Given the description of an element on the screen output the (x, y) to click on. 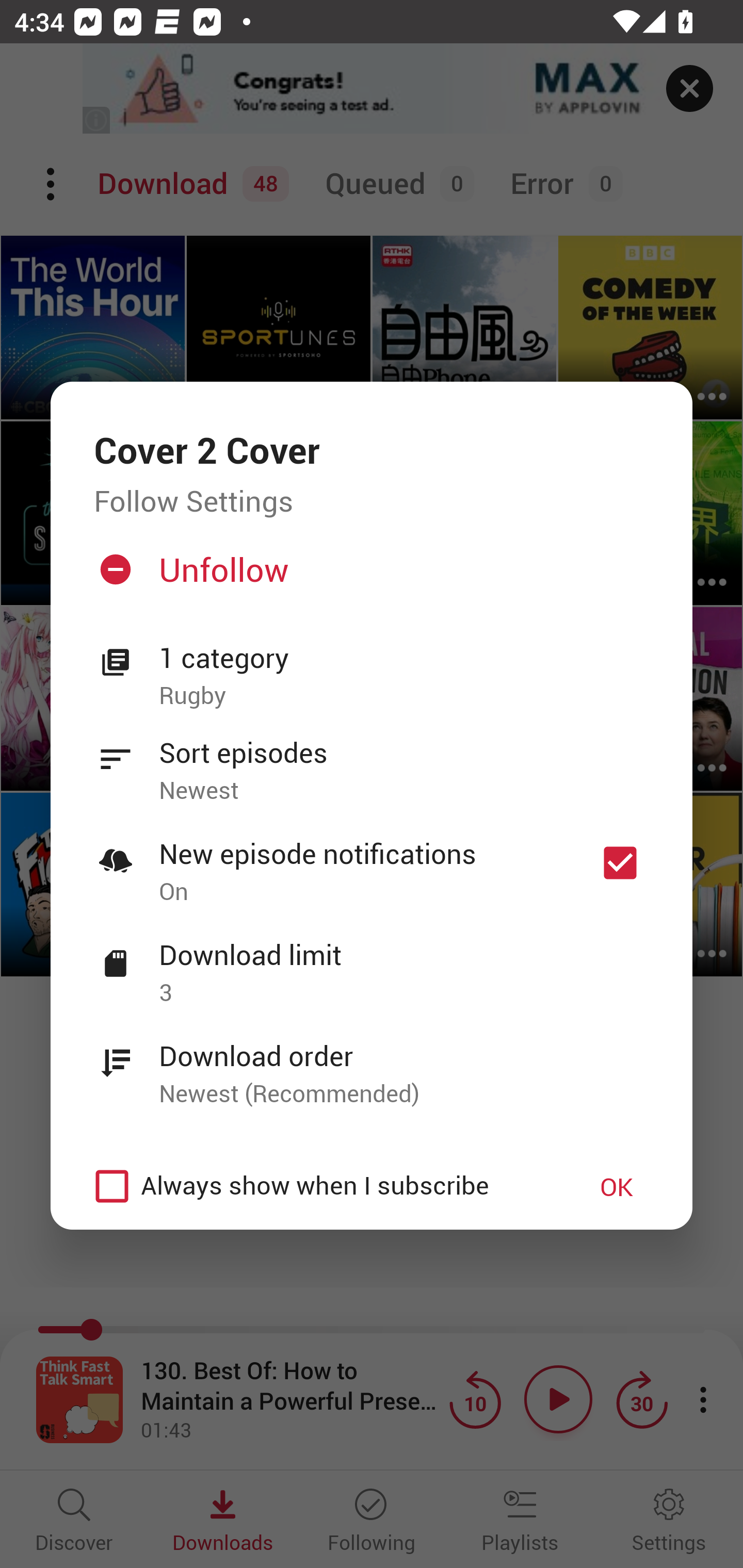
Unfollow (369, 576)
1 category (404, 658)
Rugby (404, 696)
Sort episodes Newest (371, 760)
New episode notifications (620, 863)
Download limit 3 (371, 962)
Download order Newest (Recommended) (371, 1063)
OK (616, 1186)
Always show when I subscribe (320, 1186)
